Given the description of an element on the screen output the (x, y) to click on. 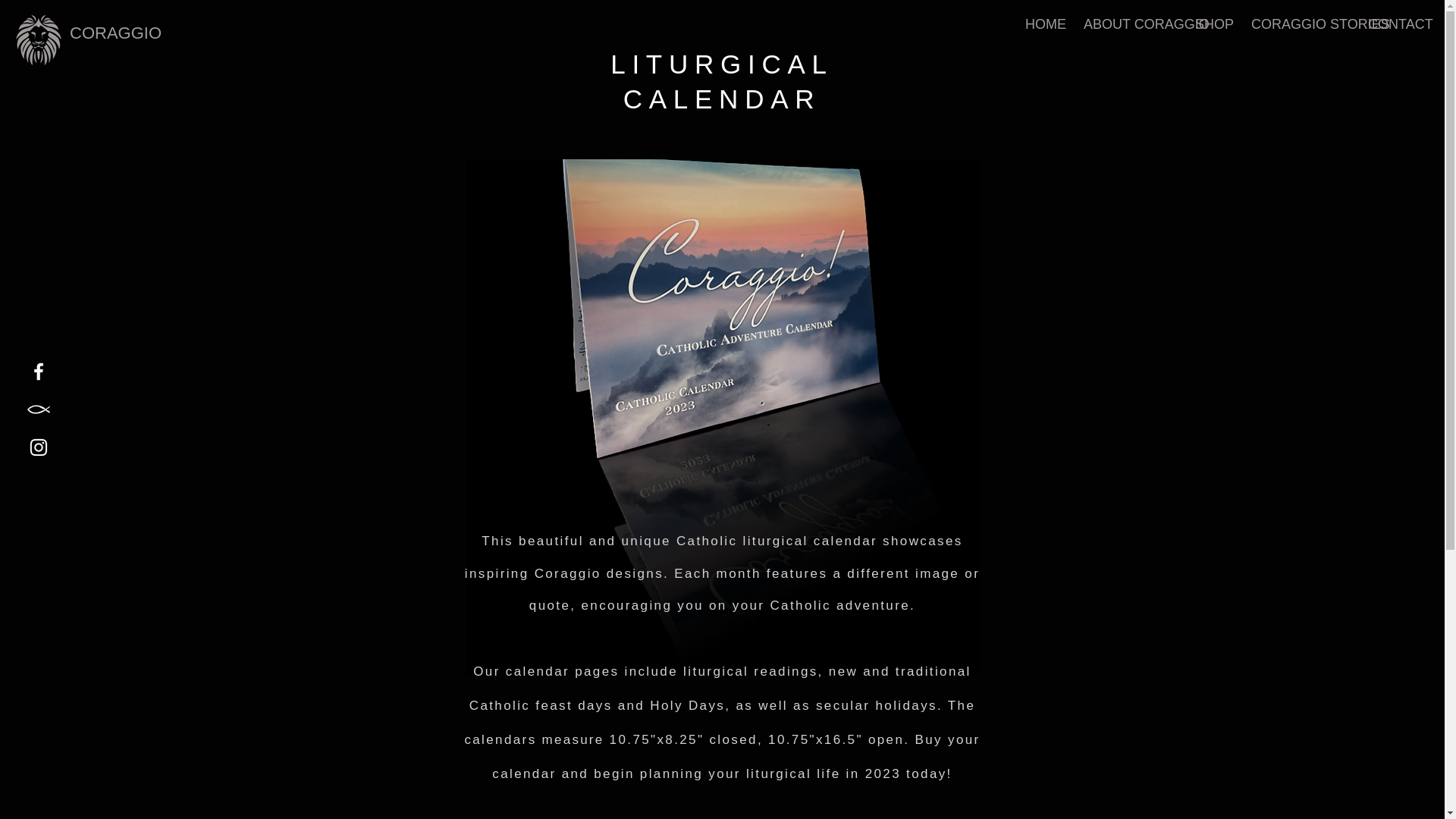
CORAGGIO STORIES (1298, 23)
CORAGGIO (115, 32)
SHOP (1211, 23)
ABOUT CORAGGIO (1127, 23)
HOME (1042, 23)
CONTACT (1392, 23)
